Given the description of an element on the screen output the (x, y) to click on. 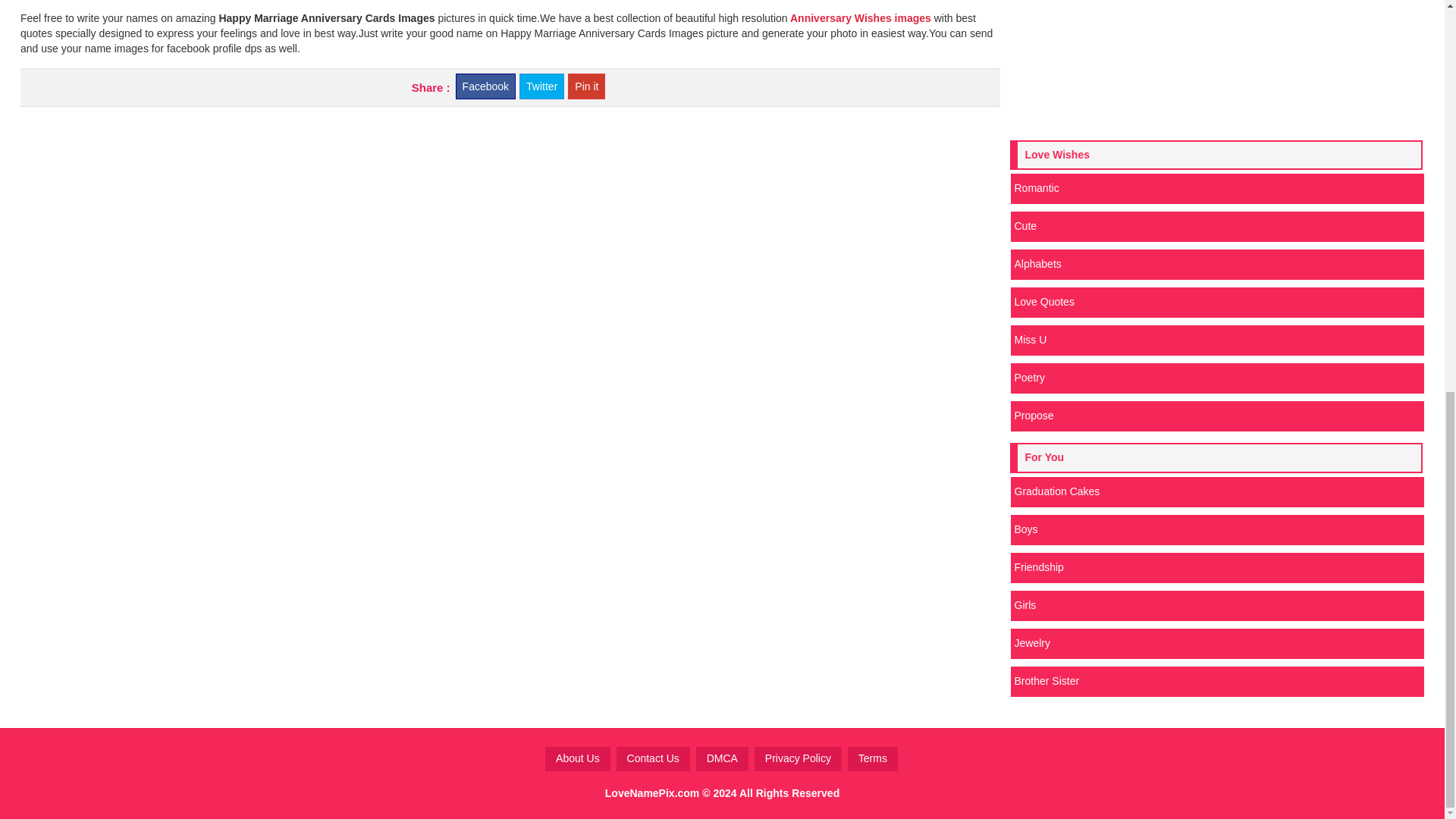
Privacy Policy (797, 758)
Alphabets Name Images (1216, 264)
Romantic Couple Name Images (1216, 188)
Miss U (1216, 340)
Cute (1216, 226)
Love Quotes (1216, 302)
Facebook (485, 86)
Graduation Cakes (1216, 491)
Poetry Name Images (1216, 378)
Alphabets (1216, 264)
Love Quotes Name Images (1216, 302)
Jewelry (1216, 643)
Poetry (1216, 378)
Contact Us (652, 758)
Twitter (541, 86)
